Given the description of an element on the screen output the (x, y) to click on. 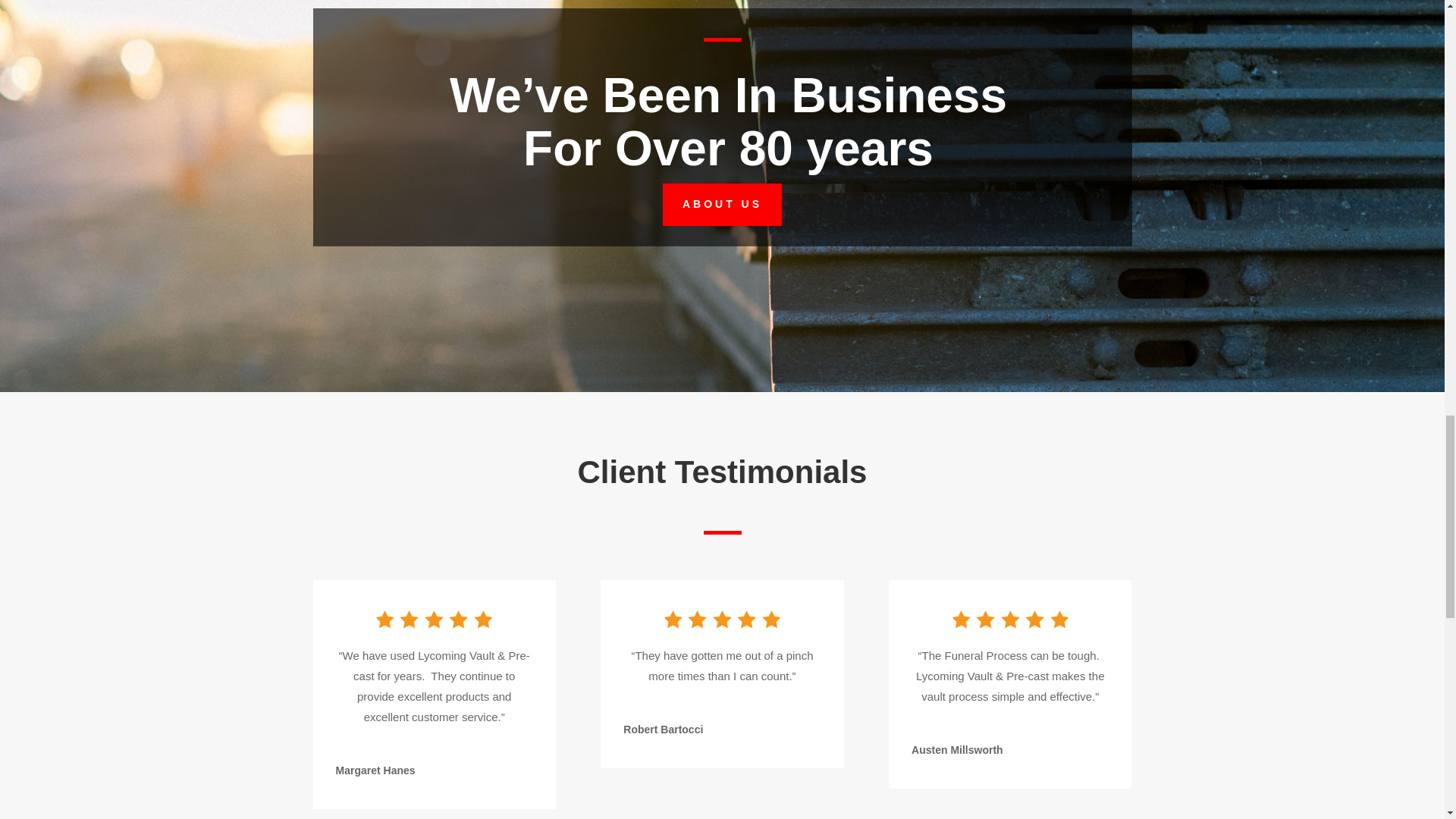
ABOUT US (721, 204)
